Given the description of an element on the screen output the (x, y) to click on. 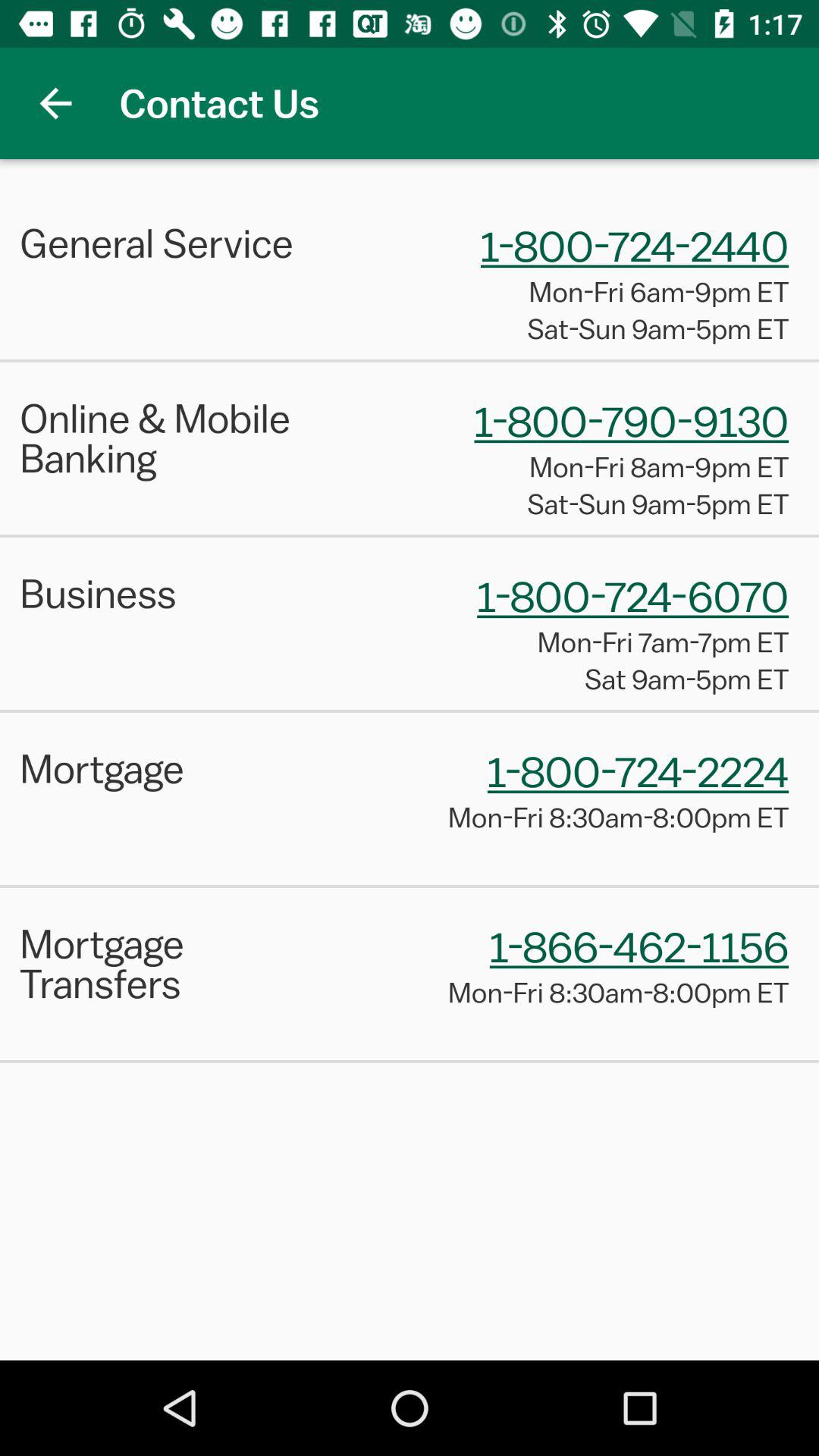
open the item above the mortgage transfers (409, 885)
